Given the description of an element on the screen output the (x, y) to click on. 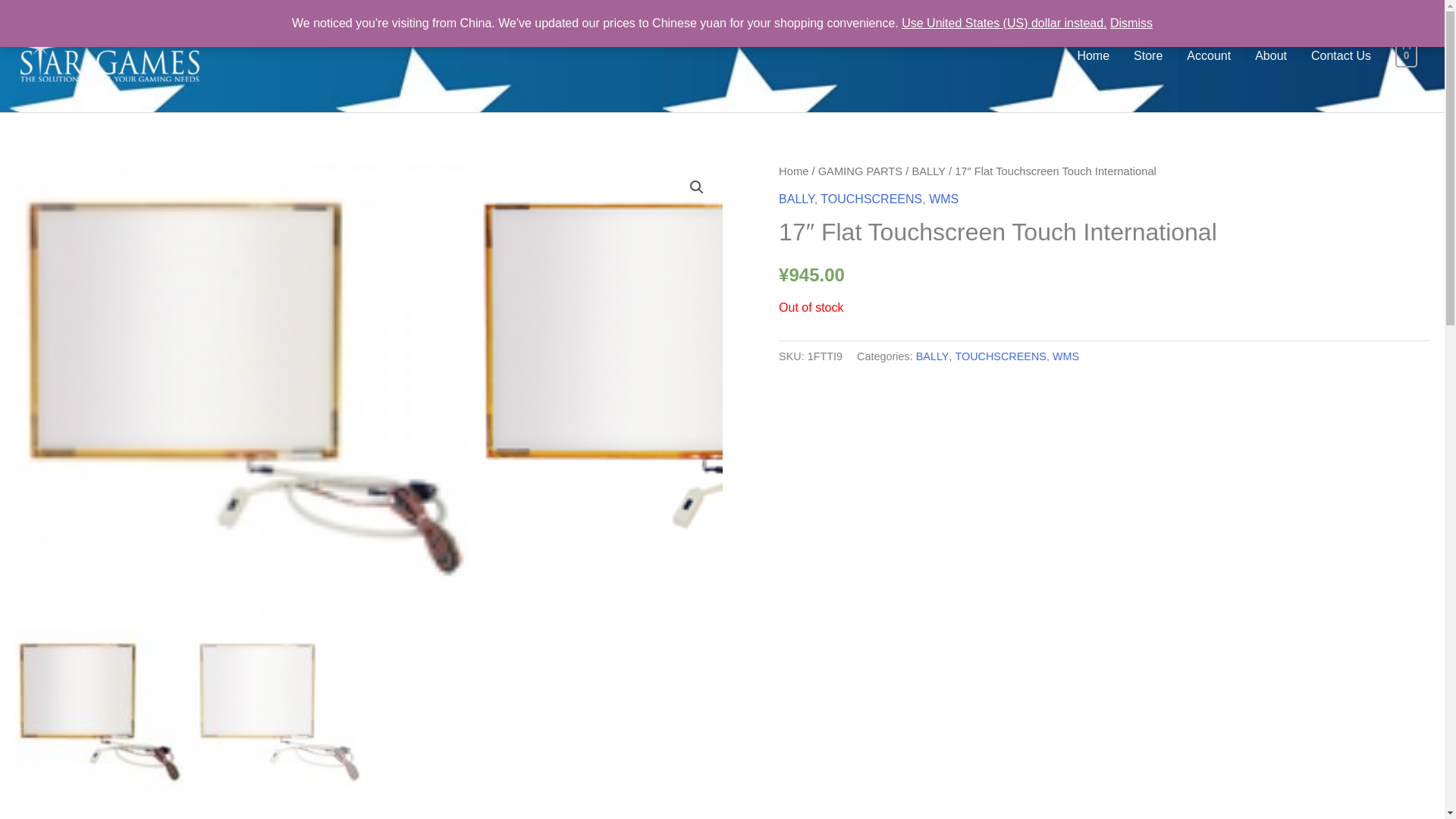
GAMING PARTS (860, 171)
WMS (943, 198)
Contact Us (1340, 55)
BALLY (795, 198)
Store (1147, 55)
TOUCHSCREENS (1000, 356)
TOUCHSCREENS (871, 198)
Home (1092, 55)
About (1270, 55)
BALLY (932, 356)
Account (1208, 55)
Home (793, 171)
BALLY (927, 171)
0 (1405, 55)
